Given the description of an element on the screen output the (x, y) to click on. 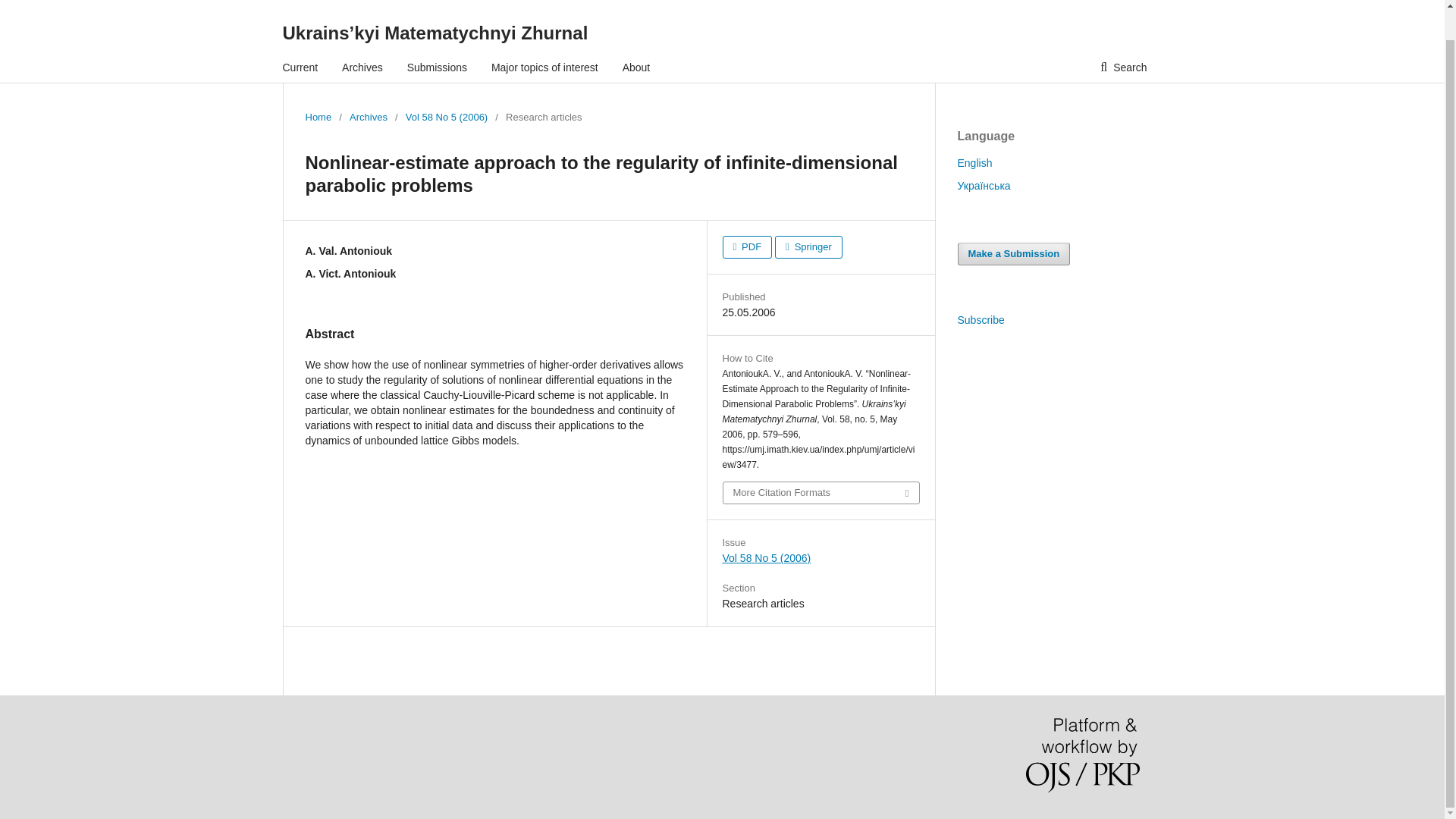
Make a Submission (1013, 253)
Archives (362, 67)
Springer (808, 246)
About (636, 67)
PDF (746, 246)
Subscribe (980, 319)
Search (1122, 67)
Major topics of interest (545, 67)
Submissions (437, 67)
English (973, 162)
